Given the description of an element on the screen output the (x, y) to click on. 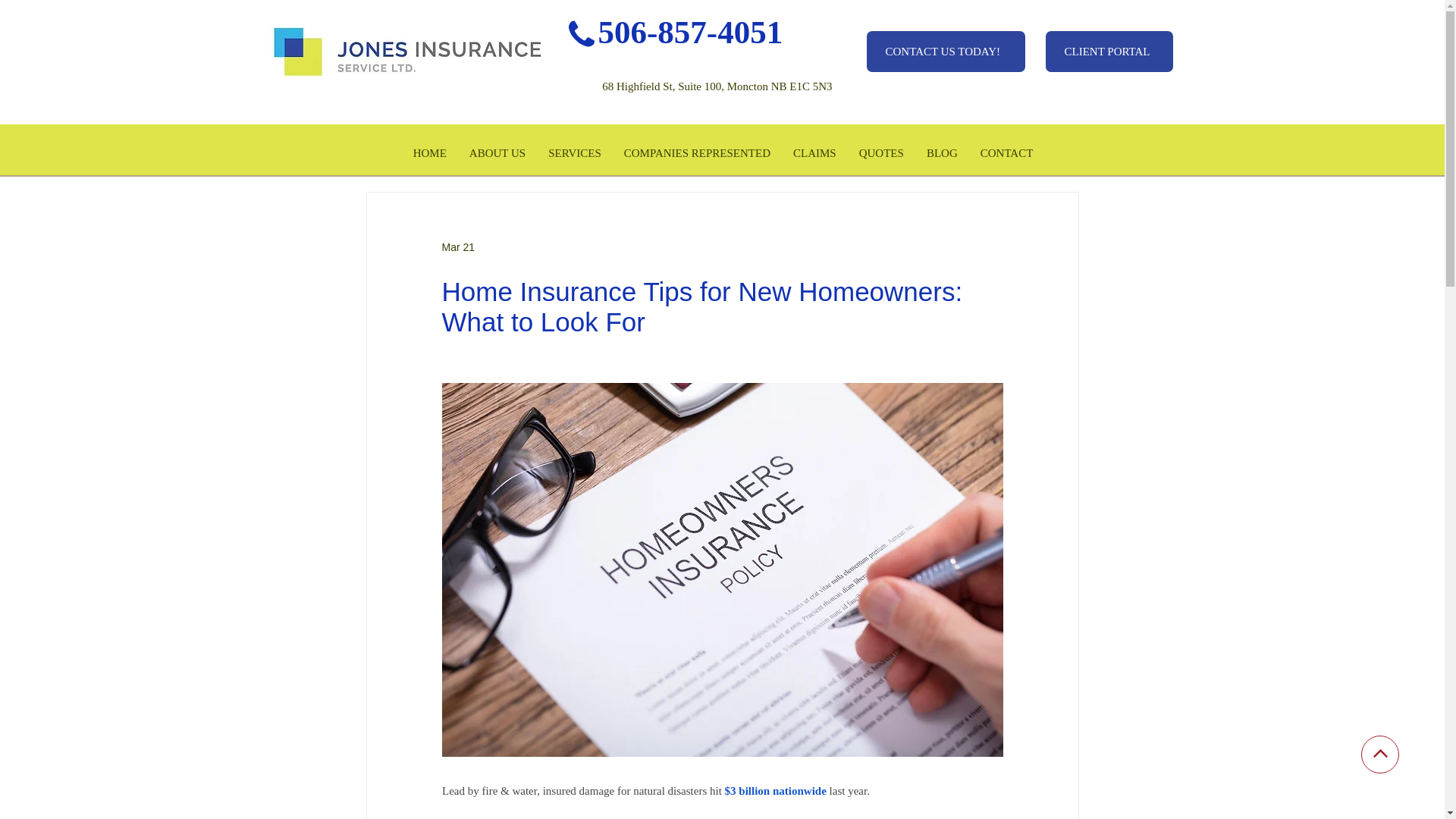
CONTACT (1007, 149)
ABOUT US (497, 149)
BLOG (942, 149)
CLIENT PORTAL (1108, 51)
HOME (429, 149)
Mar 21 (457, 246)
CONTACT US TODAY! (945, 51)
COMPANIES REPRESENTED (696, 149)
CLAIMS (814, 149)
QUOTES (881, 149)
